Given the description of an element on the screen output the (x, y) to click on. 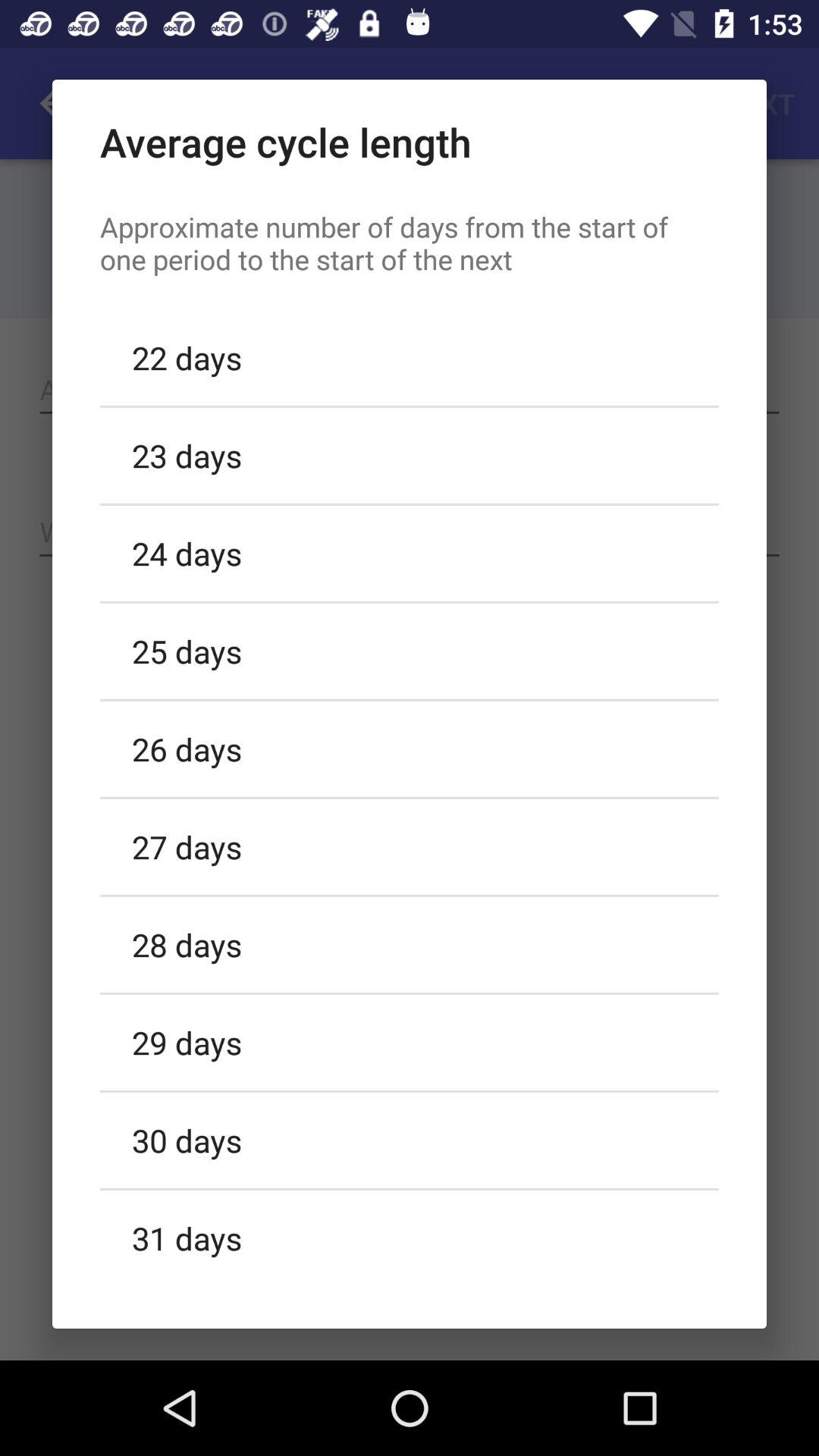
turn on item below the 22 days icon (409, 455)
